Given the description of an element on the screen output the (x, y) to click on. 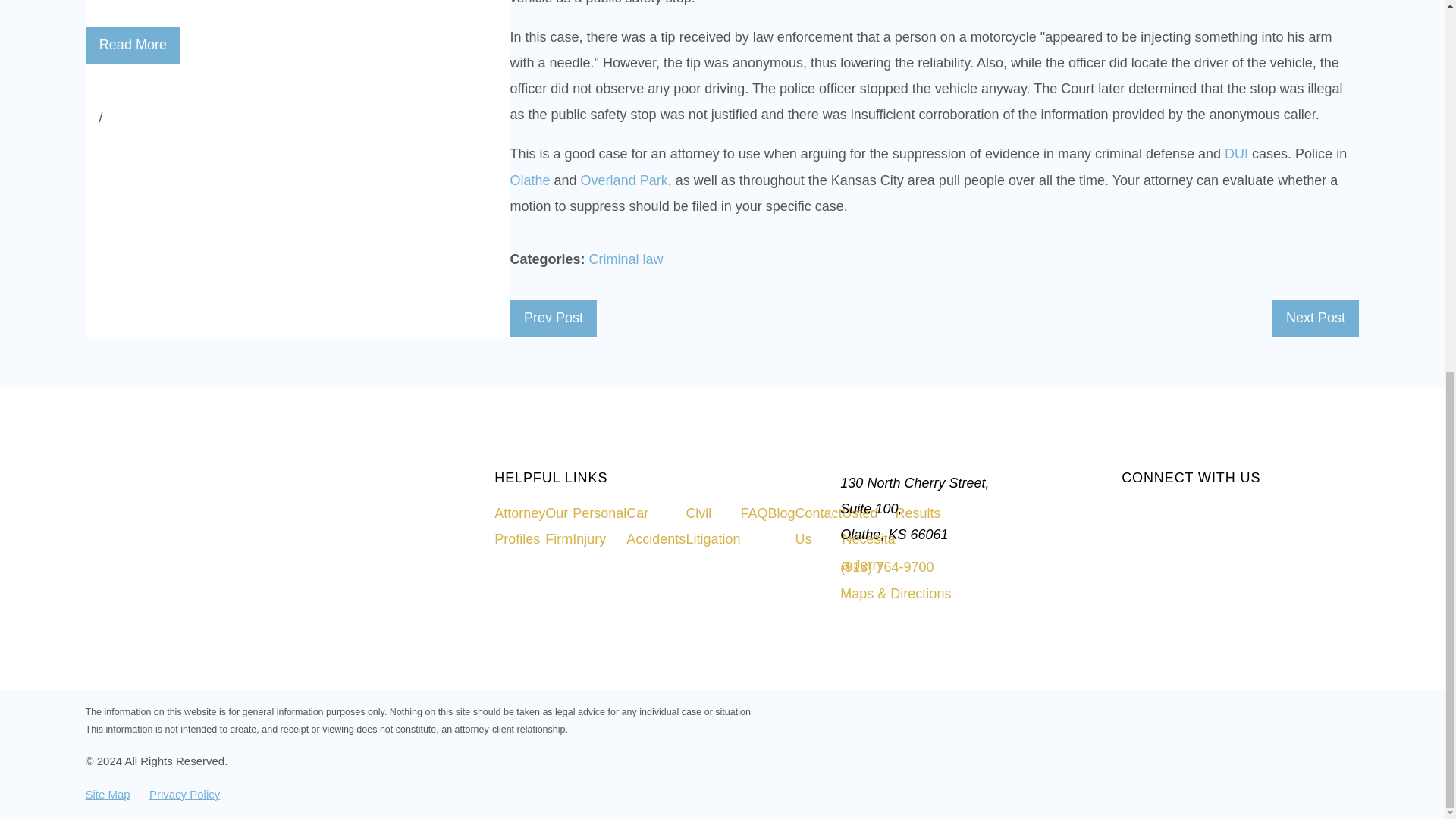
Google Business Profile (1127, 513)
View previous item (91, 117)
Facebook (1151, 513)
Twitter (1177, 513)
Open the accessibility options menu (1423, 120)
View next item (109, 117)
